Given the description of an element on the screen output the (x, y) to click on. 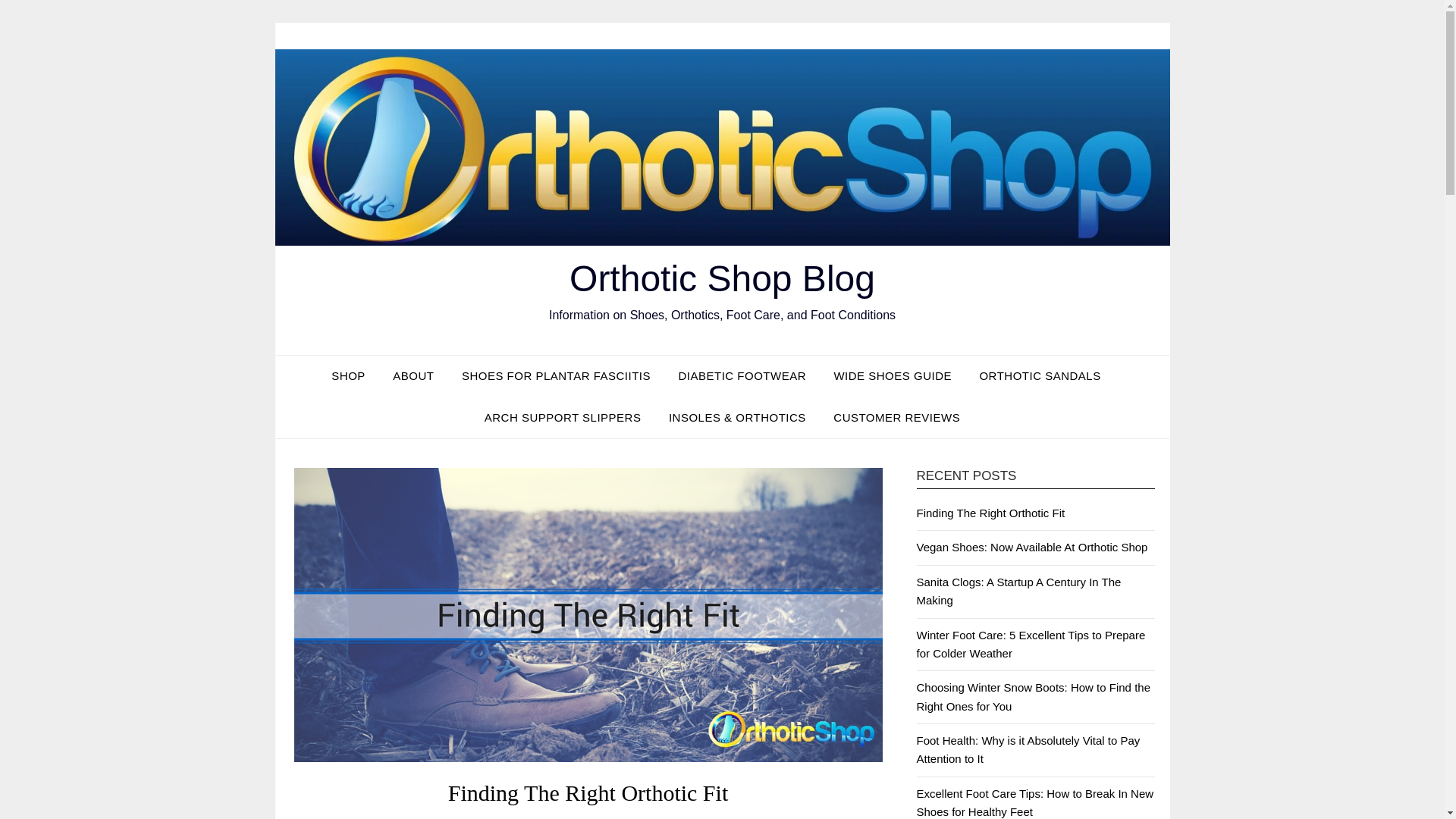
ARCH SUPPORT SLIPPERS (562, 417)
Orthotic Shop Storefront (354, 375)
WIDE SHOES GUIDE (892, 375)
Sanita Clogs: A Startup A Century In The Making (1018, 590)
CUSTOMER REVIEWS (896, 417)
Orthotic Shop Blog (722, 278)
DIABETIC FOOTWEAR (741, 375)
View Customer Reviews of Orthotic Shop (896, 417)
